Given the description of an element on the screen output the (x, y) to click on. 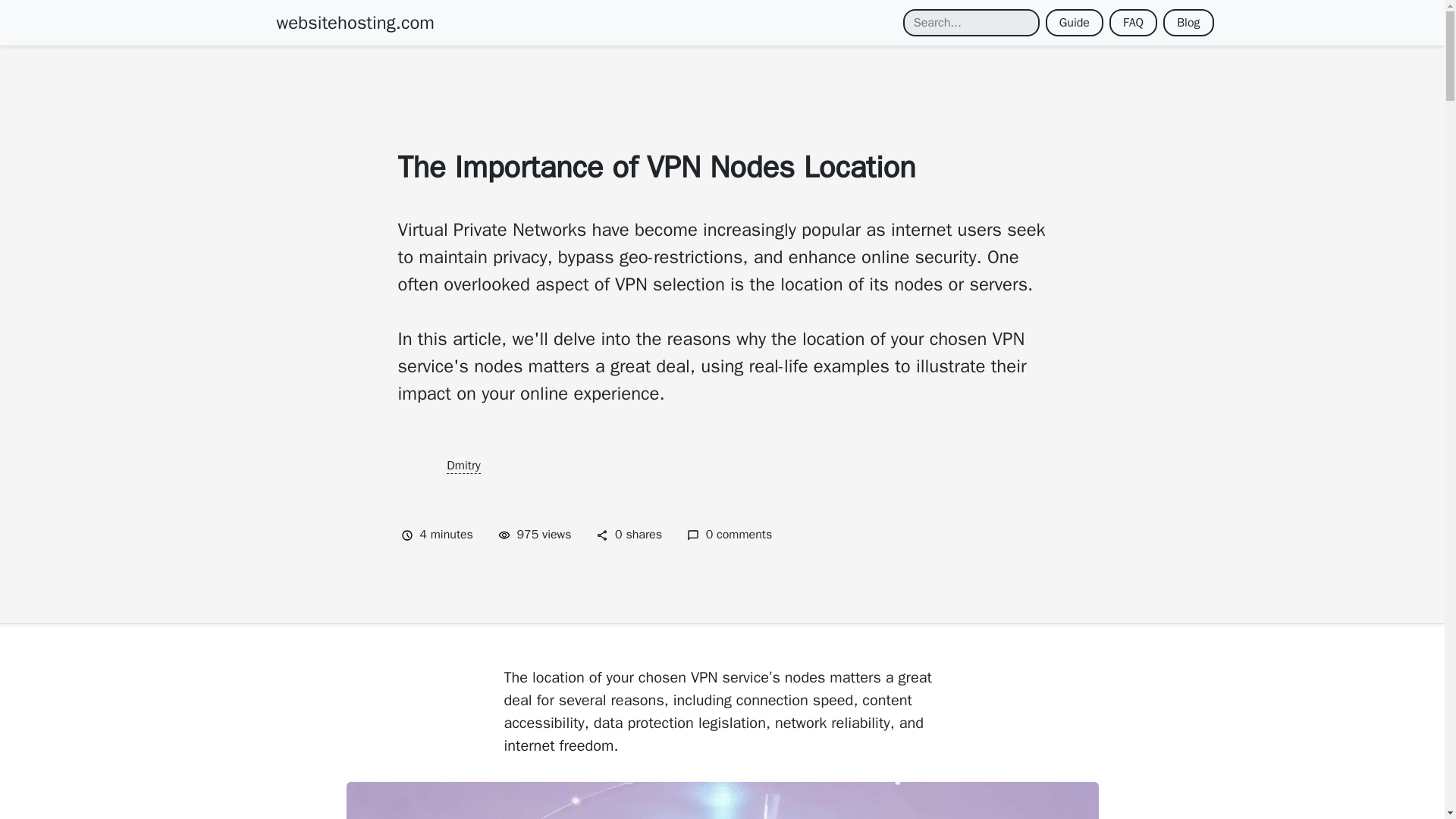
FAQ (1133, 22)
Blog (1187, 22)
Guide (1074, 22)
Dmitry (463, 465)
